Given the description of an element on the screen output the (x, y) to click on. 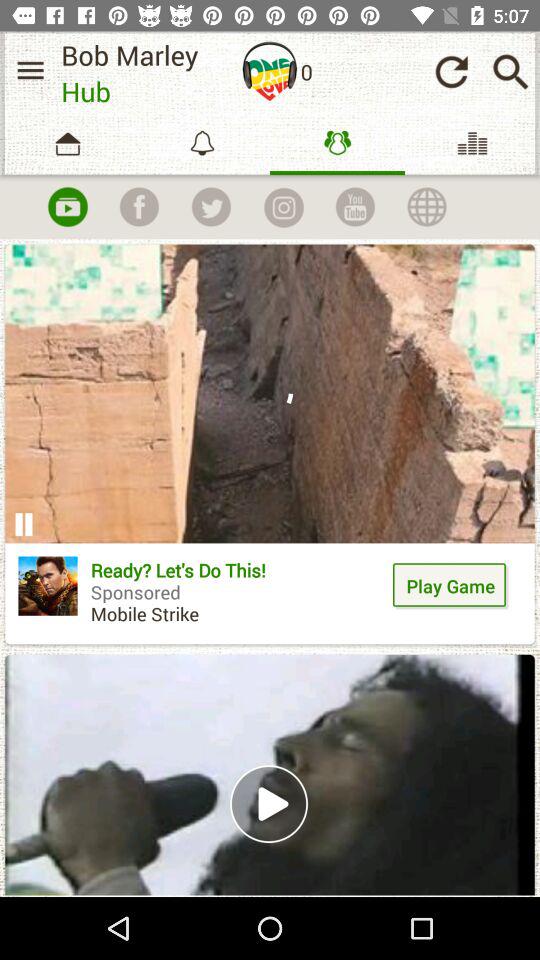
click the icon to the left of the bob marley item (30, 69)
